Given the description of an element on the screen output the (x, y) to click on. 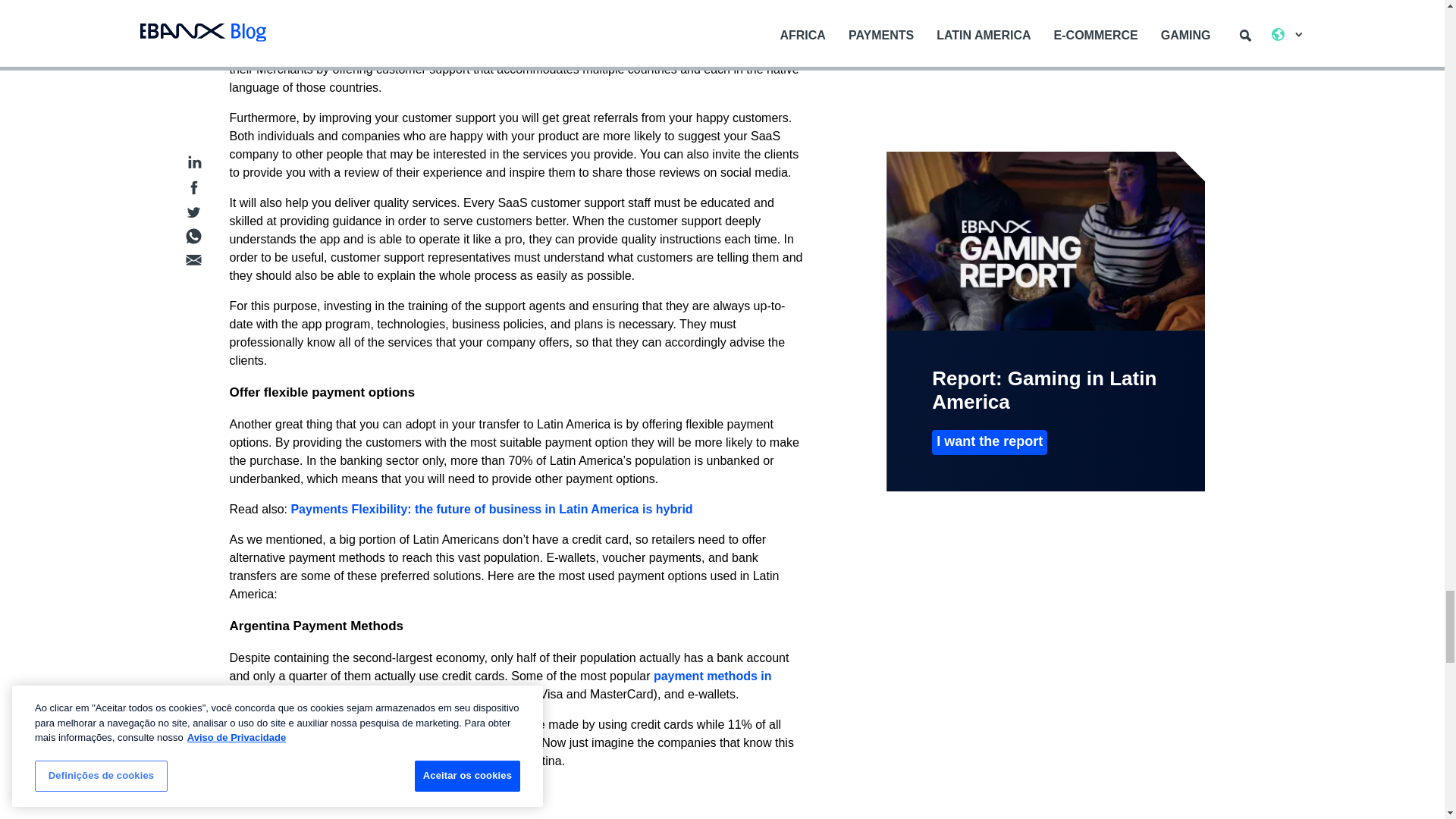
payment methods in Argentina (499, 685)
